Given the description of an element on the screen output the (x, y) to click on. 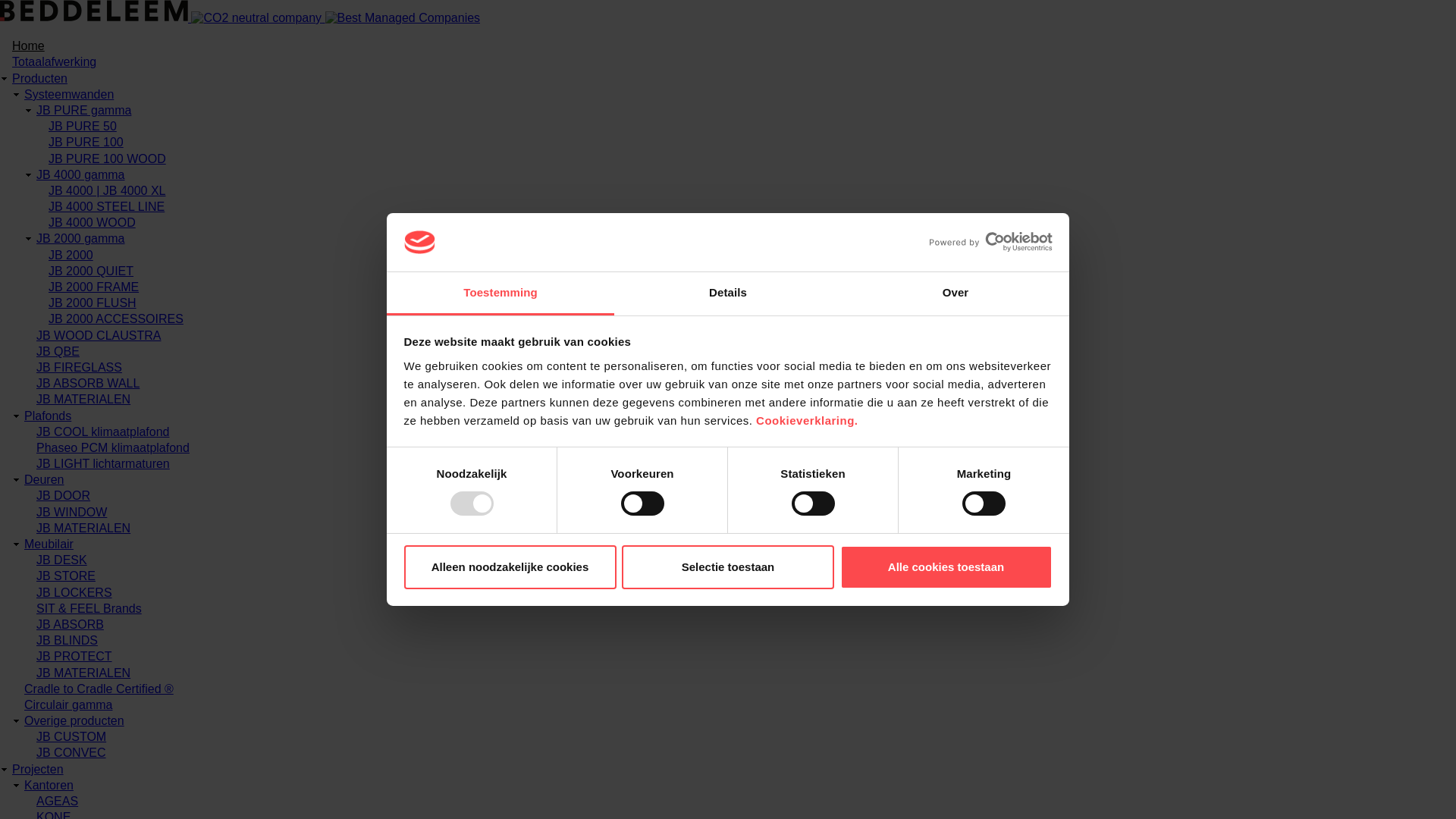
JB PURE gamma Element type: text (83, 109)
JB 2000 FLUSH Element type: text (92, 302)
Details Element type: text (727, 293)
Totaalafwerking Element type: text (54, 61)
JB PURE 100 Element type: text (85, 141)
JB 2000 ACCESSOIRES Element type: text (115, 318)
Over Element type: text (955, 293)
Overslaan en naar de inhoud gaan Element type: text (0, 0)
JB MATERIALEN Element type: text (83, 398)
SIT & FEEL Brands Element type: text (88, 608)
JB QBE Element type: text (57, 351)
JB PROTECT Element type: text (74, 655)
Projecten Element type: text (37, 768)
Home Element type: text (28, 45)
JB MATERIALEN Element type: text (83, 671)
JB 4000 WOOD Element type: text (91, 222)
JB ABSORB WALL Element type: text (87, 382)
JB 4000 STEEL LINE Element type: text (106, 206)
JB PURE 100 WOOD Element type: text (107, 157)
Phaseo PCM klimaatplafond Element type: text (112, 447)
Overige producten Element type: text (74, 720)
Alle cookies toestaan Element type: text (946, 567)
JB LOCKERS Element type: text (74, 592)
JB STORE Element type: text (65, 575)
JB 4000 gamma Element type: text (80, 174)
Selectie toestaan Element type: text (727, 567)
JB CONVEC Element type: text (71, 752)
JB DOOR Element type: text (63, 495)
JB 4000 | JB 4000 XL Element type: text (106, 190)
Systeemwanden Element type: text (68, 93)
JB 2000 QUIET Element type: text (90, 270)
JB 2000 gamma Element type: text (80, 238)
JB COOL klimaatplafond Element type: text (102, 431)
Plafonds Element type: text (47, 415)
Circulair gamma Element type: text (68, 704)
JB WINDOW Element type: text (71, 511)
JB ABSORB Element type: text (69, 624)
JB LIGHT lichtarmaturen Element type: text (102, 463)
JB 2000 Element type: text (70, 254)
JB PURE 50 Element type: text (82, 125)
Producten Element type: text (39, 78)
Meubilair Element type: text (48, 543)
Alleen noodzakelijke cookies Element type: text (509, 567)
JB FIREGLASS Element type: text (79, 366)
JB DESK Element type: text (61, 559)
JB MATERIALEN Element type: text (83, 527)
AGEAS Element type: text (57, 800)
Cookieverklaring. Element type: text (806, 420)
JB 2000 FRAME Element type: text (93, 286)
JB WOOD CLAUSTRA Element type: text (98, 335)
Deuren Element type: text (43, 479)
Toestemming Element type: text (500, 293)
JB BLINDS Element type: text (66, 639)
JB CUSTOM Element type: text (71, 736)
Kantoren Element type: text (48, 784)
